Given the description of an element on the screen output the (x, y) to click on. 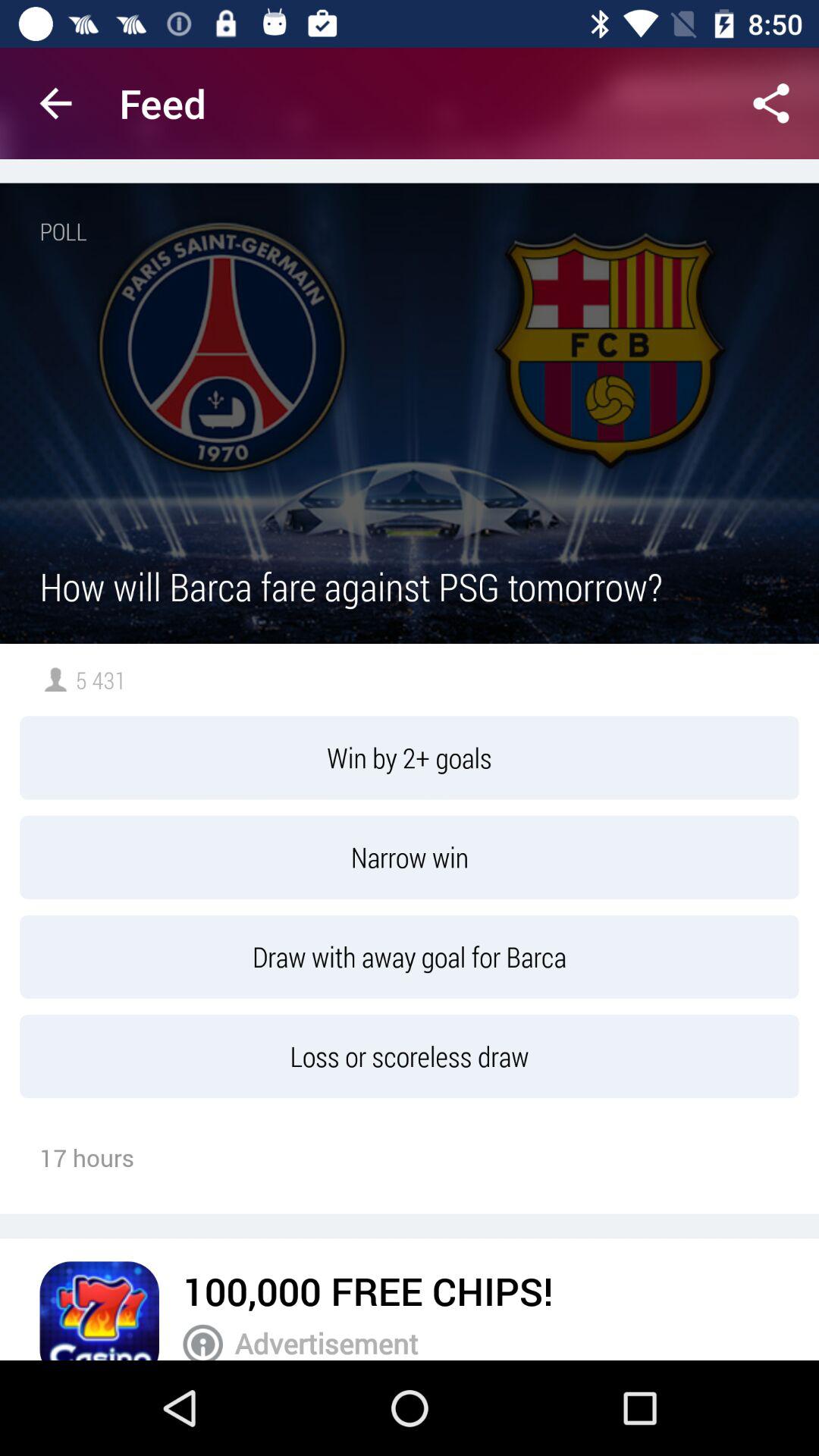
scroll until the draw with away item (409, 956)
